Given the description of an element on the screen output the (x, y) to click on. 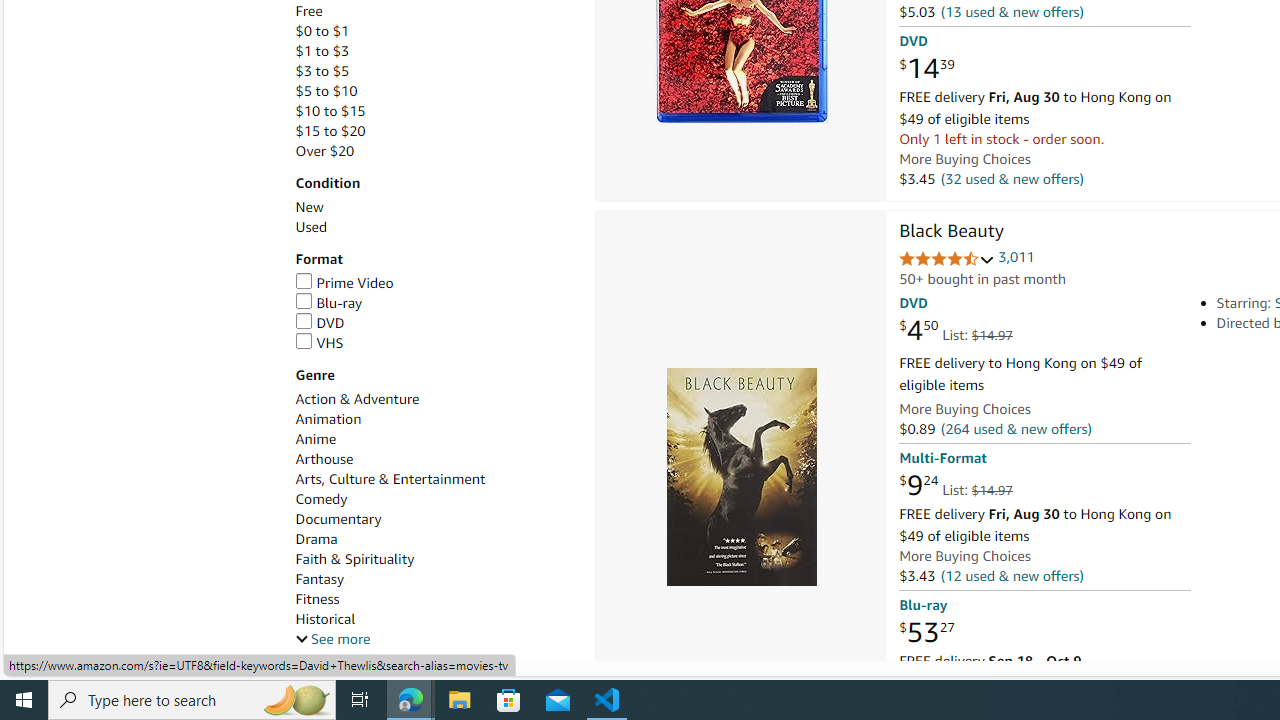
Anime (434, 439)
Faith & Spirituality (434, 559)
Free (308, 11)
$53.27 (926, 632)
$5 to $10 (326, 91)
$9.24 List: $14.97 (955, 485)
$0 to $1 (321, 31)
New (434, 207)
Black Beauty (740, 476)
Animation (328, 419)
Action & Adventure (434, 399)
Prime Video (434, 283)
Fitness (434, 599)
Fantasy (319, 579)
$3 to $5 (434, 71)
